Given the description of an element on the screen output the (x, y) to click on. 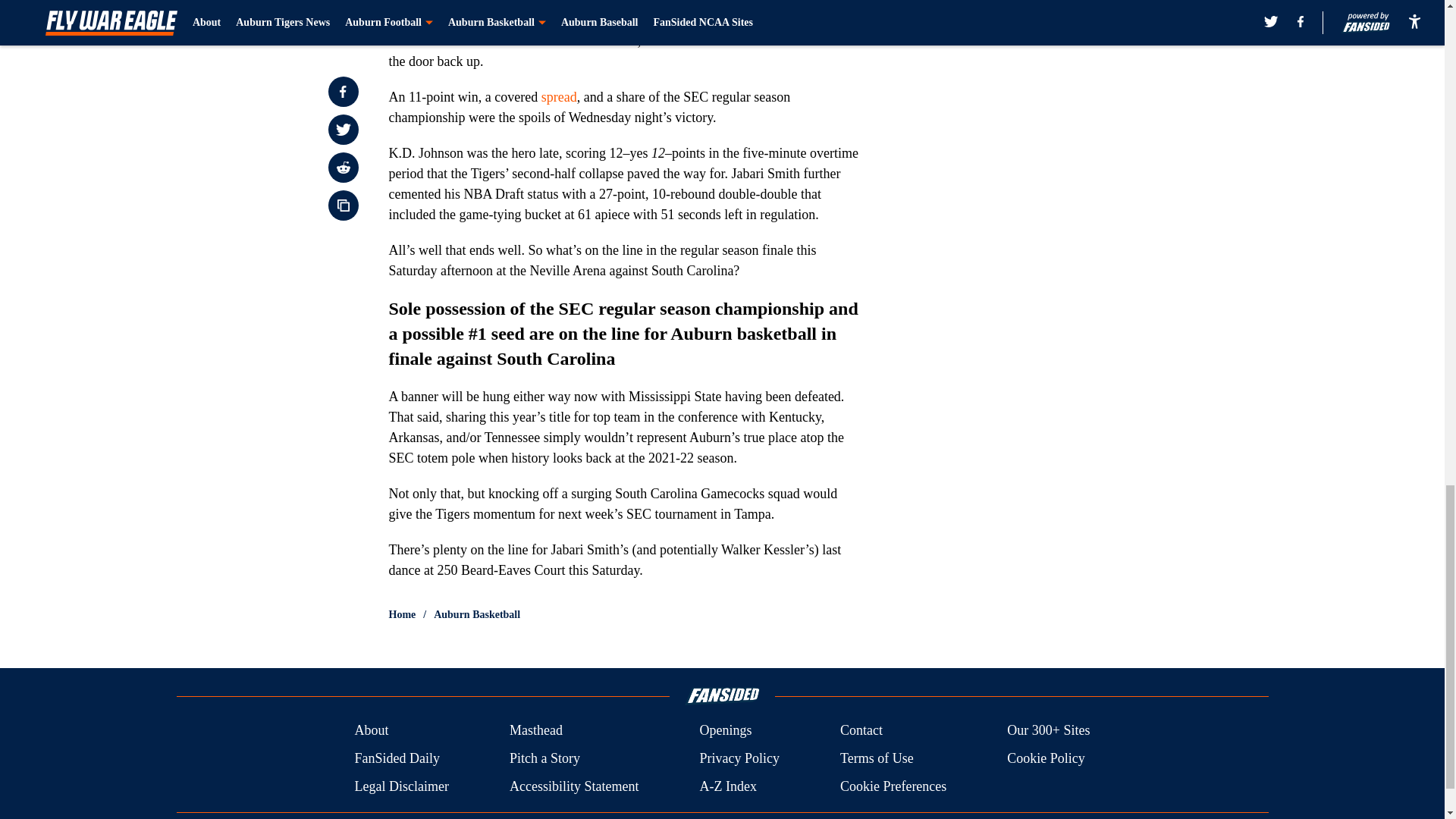
spread (558, 96)
Auburn Basketball (476, 614)
Privacy Policy (738, 758)
Masthead (535, 730)
Cookie Policy (1045, 758)
Pitch a Story (544, 758)
Home (401, 614)
FanSided Daily (396, 758)
come back (683, 20)
Contact (861, 730)
Openings (724, 730)
About (370, 730)
Terms of Use (877, 758)
